Given the description of an element on the screen output the (x, y) to click on. 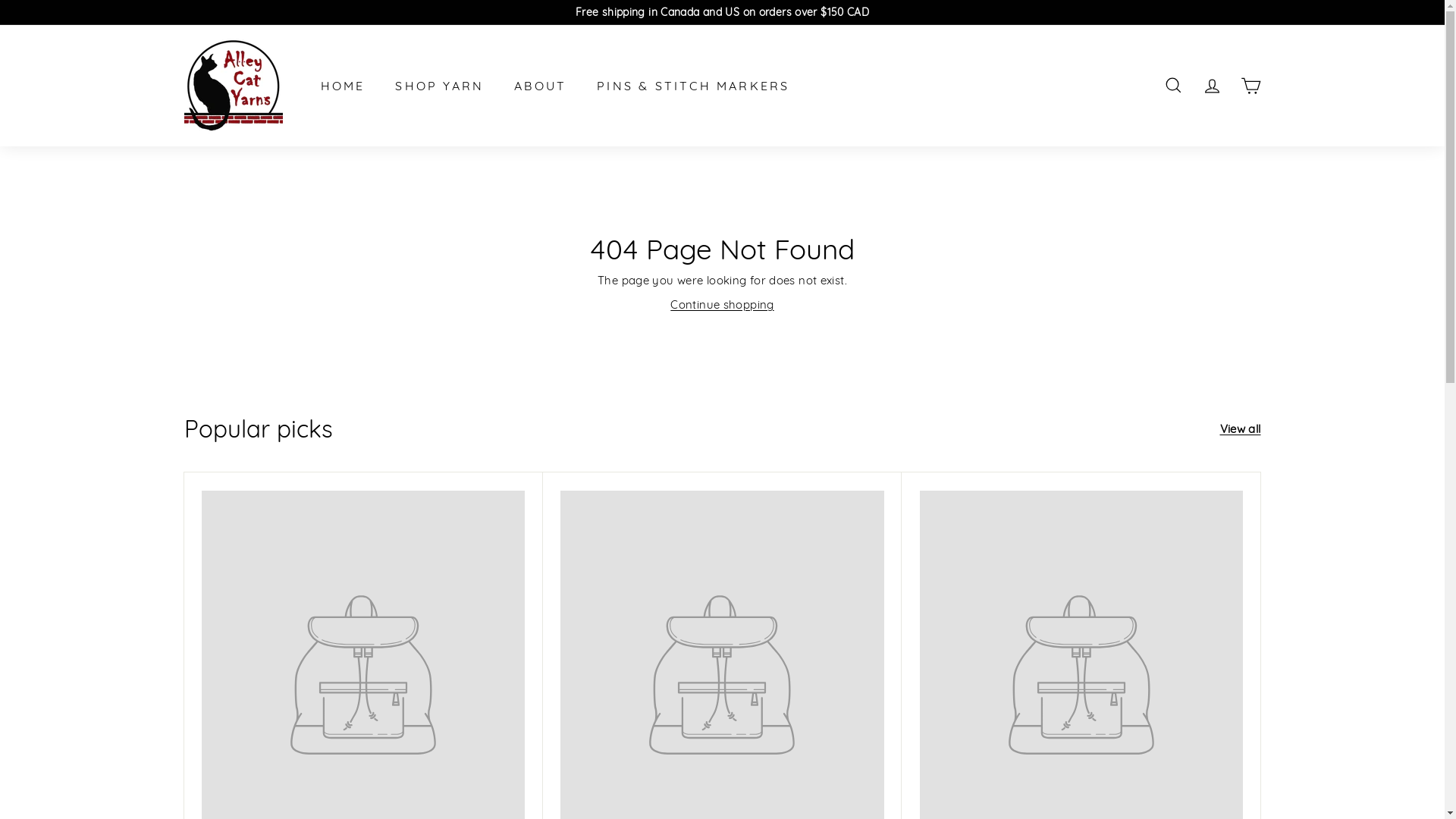
CART Element type: text (1250, 84)
View all Element type: text (1239, 429)
SEARCH Element type: text (1173, 84)
ACCOUNT Element type: text (1211, 84)
ABOUT Element type: text (539, 85)
Continue shopping Element type: text (721, 304)
HOME Element type: text (341, 85)
PINS & STITCH MARKERS Element type: text (692, 85)
SHOP YARN Element type: text (438, 85)
